Given the description of an element on the screen output the (x, y) to click on. 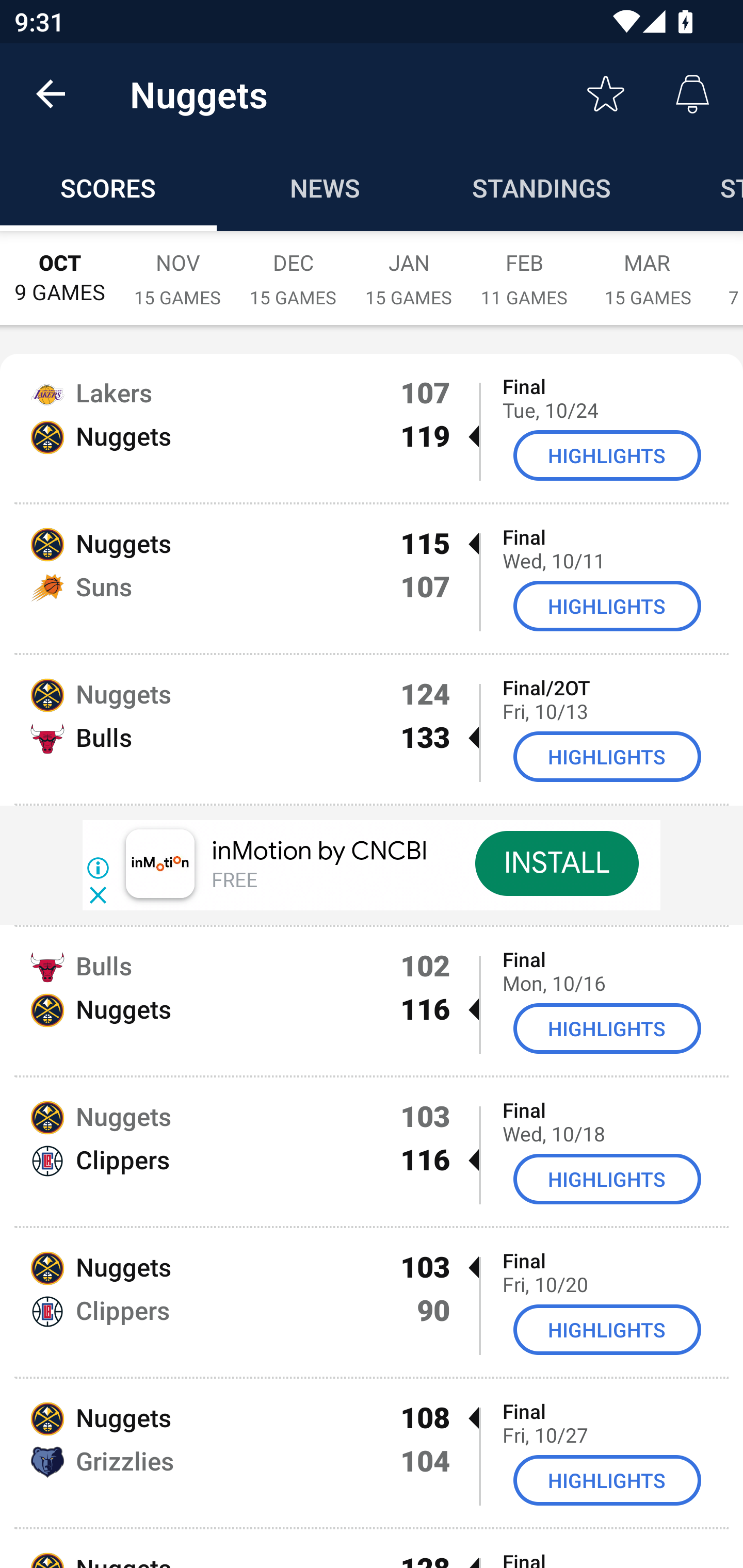
back.button (50, 93)
Favorite toggle (605, 93)
Alerts (692, 93)
News NEWS (324, 187)
Standings STANDINGS (541, 187)
OCT 9 GAMES (59, 268)
NOV 15 GAMES (177, 268)
DEC 15 GAMES (292, 268)
JAN 15 GAMES (408, 268)
FEB 11 GAMES (523, 268)
MAR 15 GAMES (647, 268)
HIGHLIGHTS (607, 455)
Nuggets 115  Suns 107 Final Wed, 10/11 HIGHLIGHTS (371, 578)
HIGHLIGHTS (607, 605)
HIGHLIGHTS (607, 756)
INSTALL (556, 863)
inMotion by CNCBI (319, 851)
FREE (234, 880)
HIGHLIGHTS (607, 1028)
HIGHLIGHTS (607, 1179)
HIGHLIGHTS (607, 1329)
HIGHLIGHTS (607, 1480)
